Given the description of an element on the screen output the (x, y) to click on. 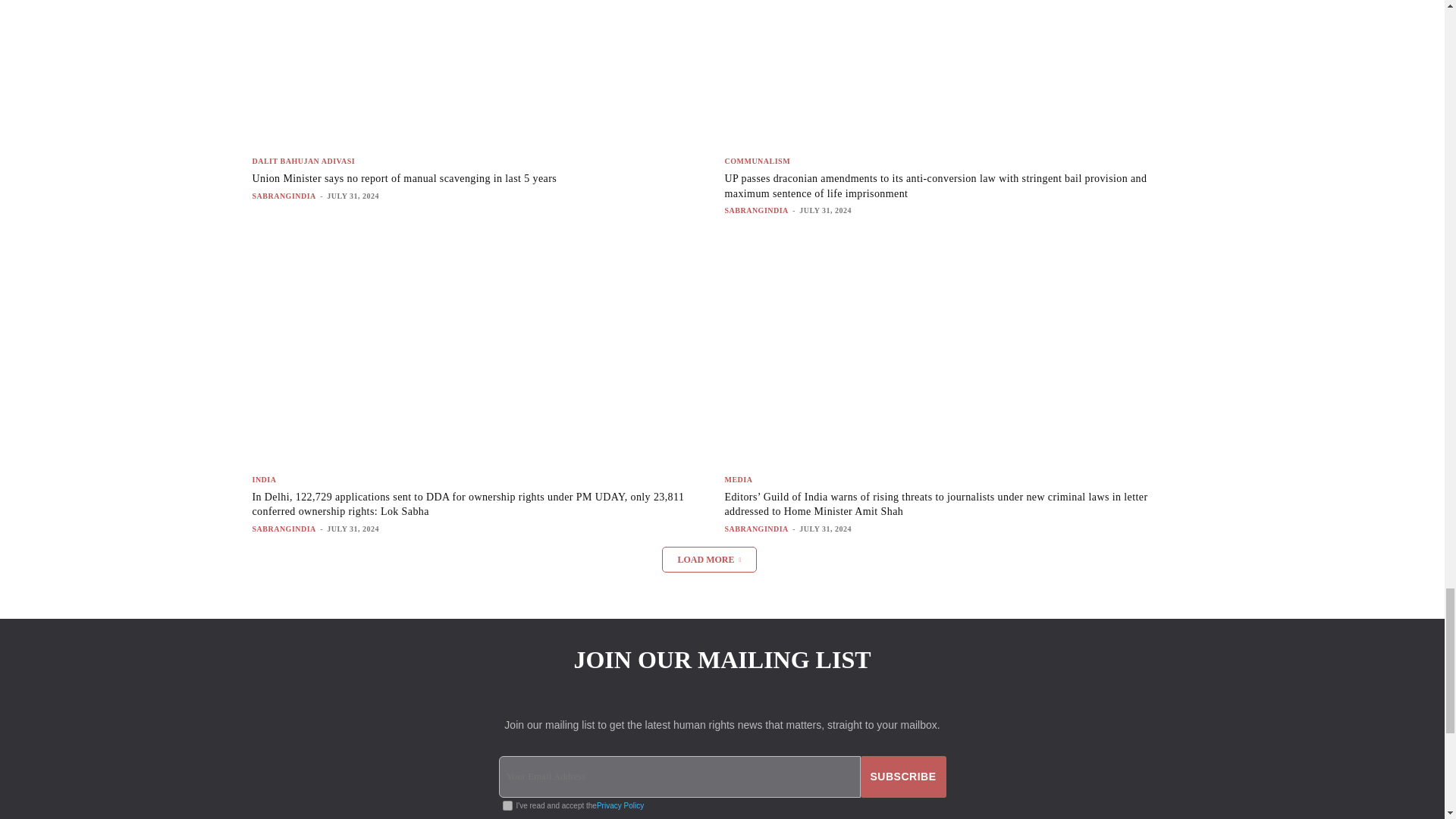
Subscribe (903, 762)
